Given the description of an element on the screen output the (x, y) to click on. 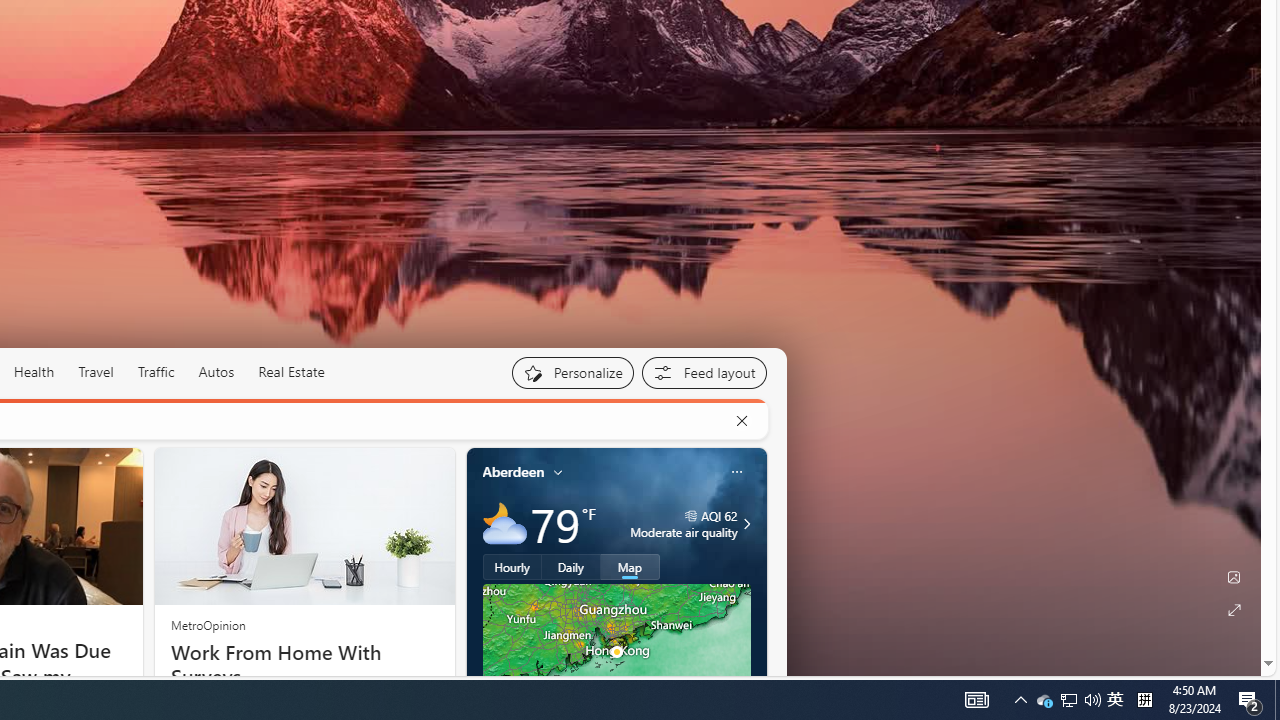
Class: icon-img (736, 471)
Larger map  (616, 651)
